Given the description of an element on the screen output the (x, y) to click on. 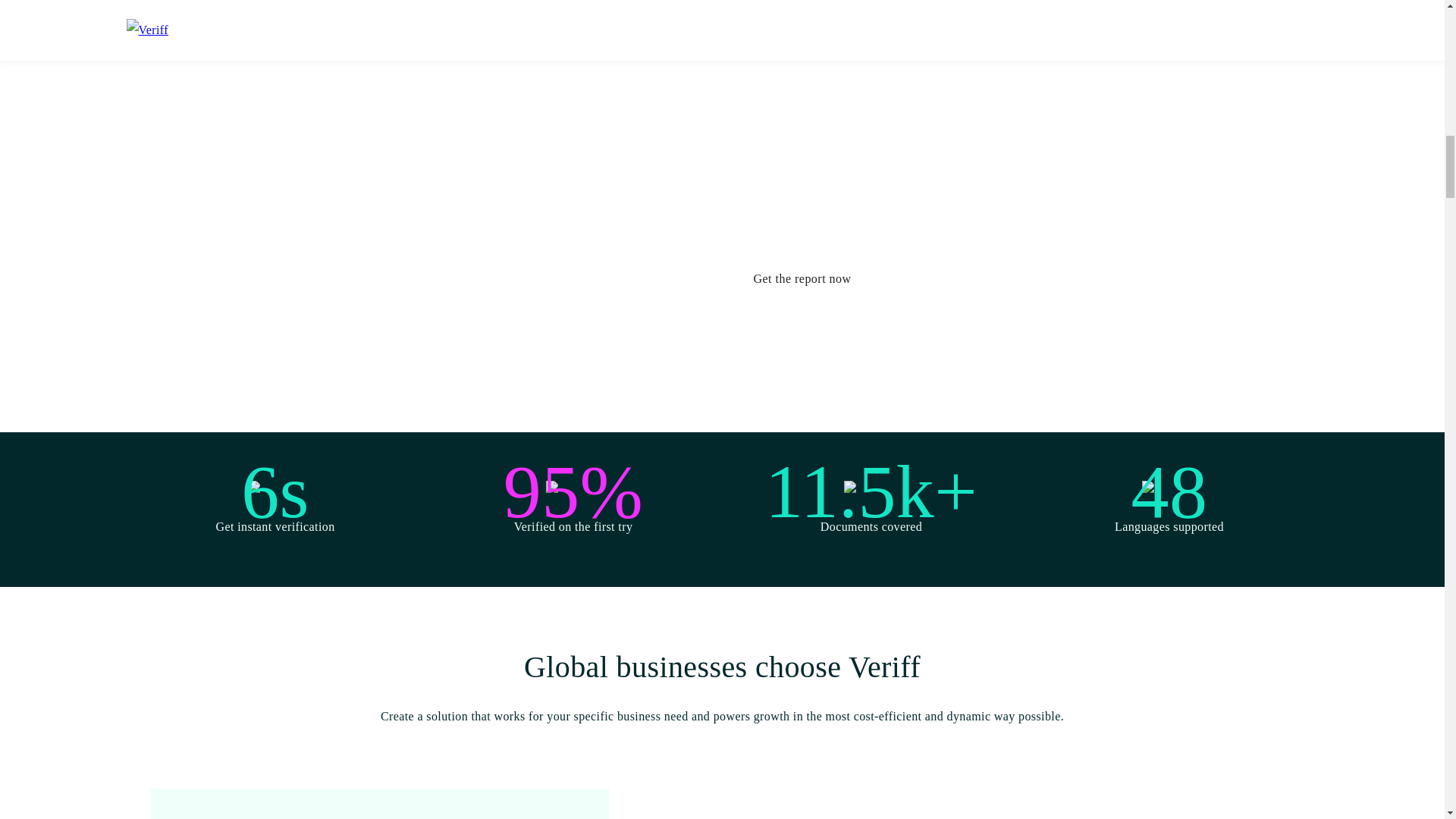
Get the report now (801, 277)
Get the report now (801, 278)
